Given the description of an element on the screen output the (x, y) to click on. 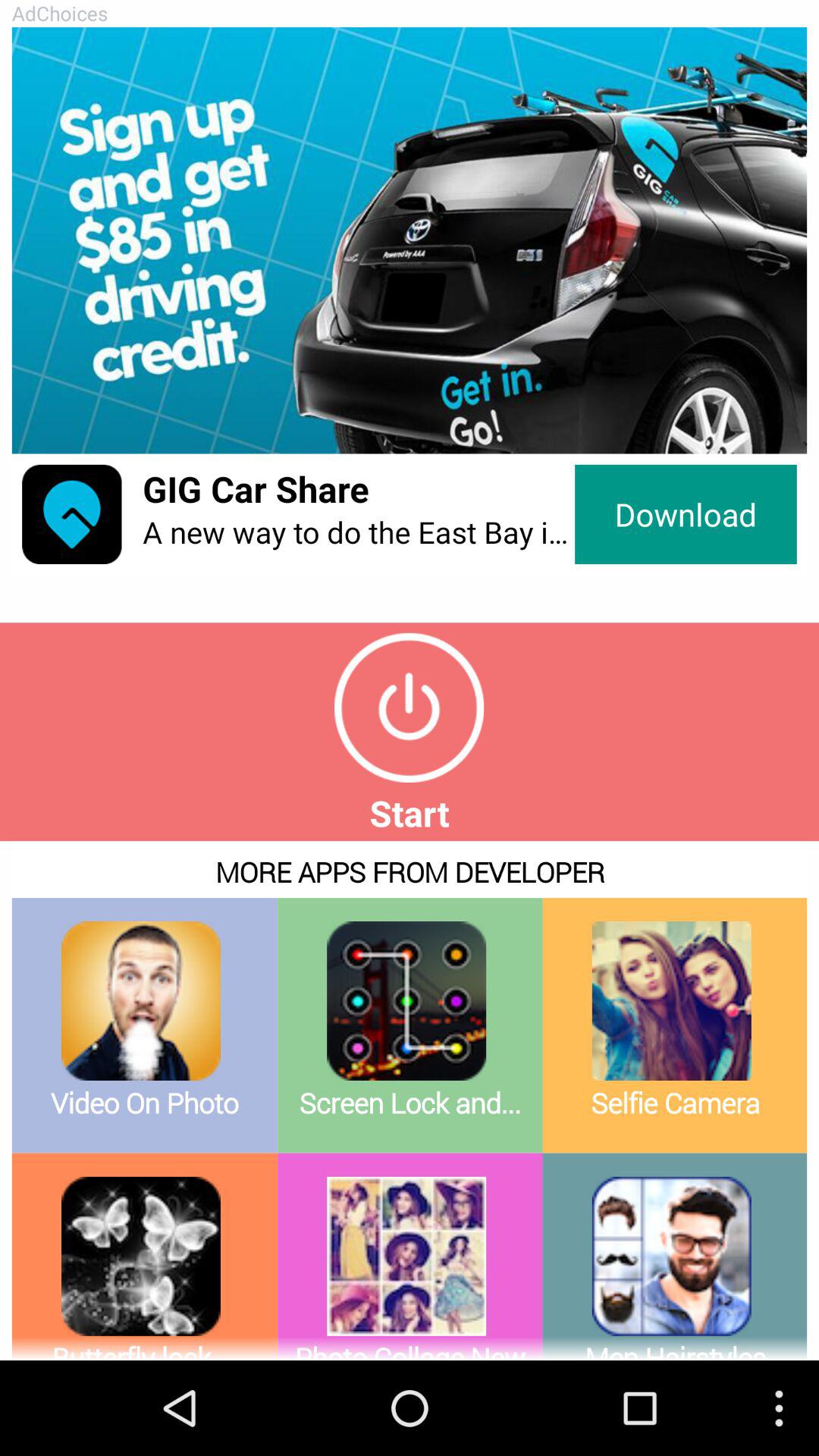
advertising (409, 240)
